Given the description of an element on the screen output the (x, y) to click on. 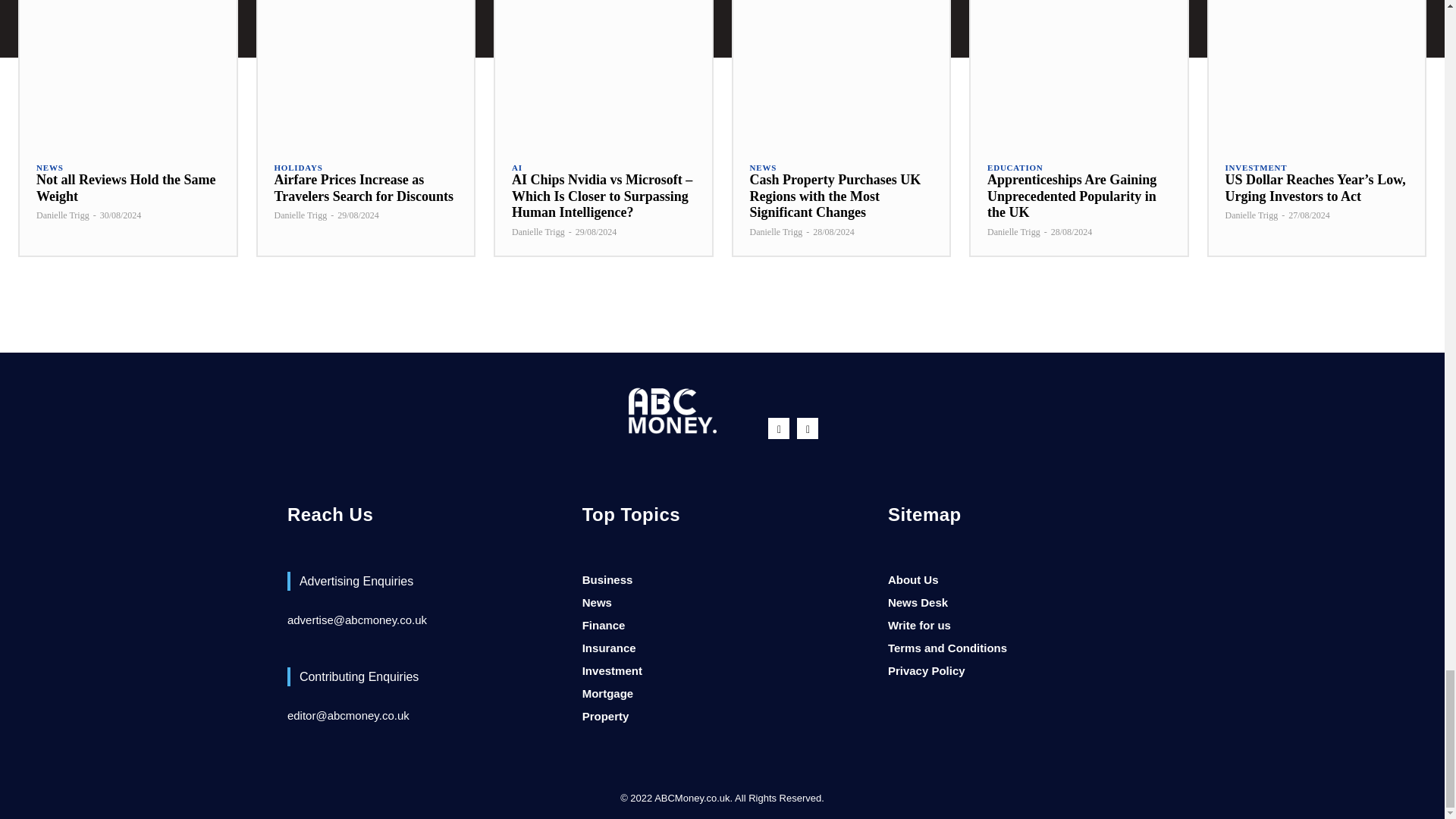
Airfare Prices Increase as Travelers Search for Discounts (363, 187)
Not all Reviews Hold the Same Weight (125, 187)
Not all Reviews Hold the Same Weight (127, 72)
Airfare Prices Increase as Travelers Search for Discounts (365, 72)
